Given the description of an element on the screen output the (x, y) to click on. 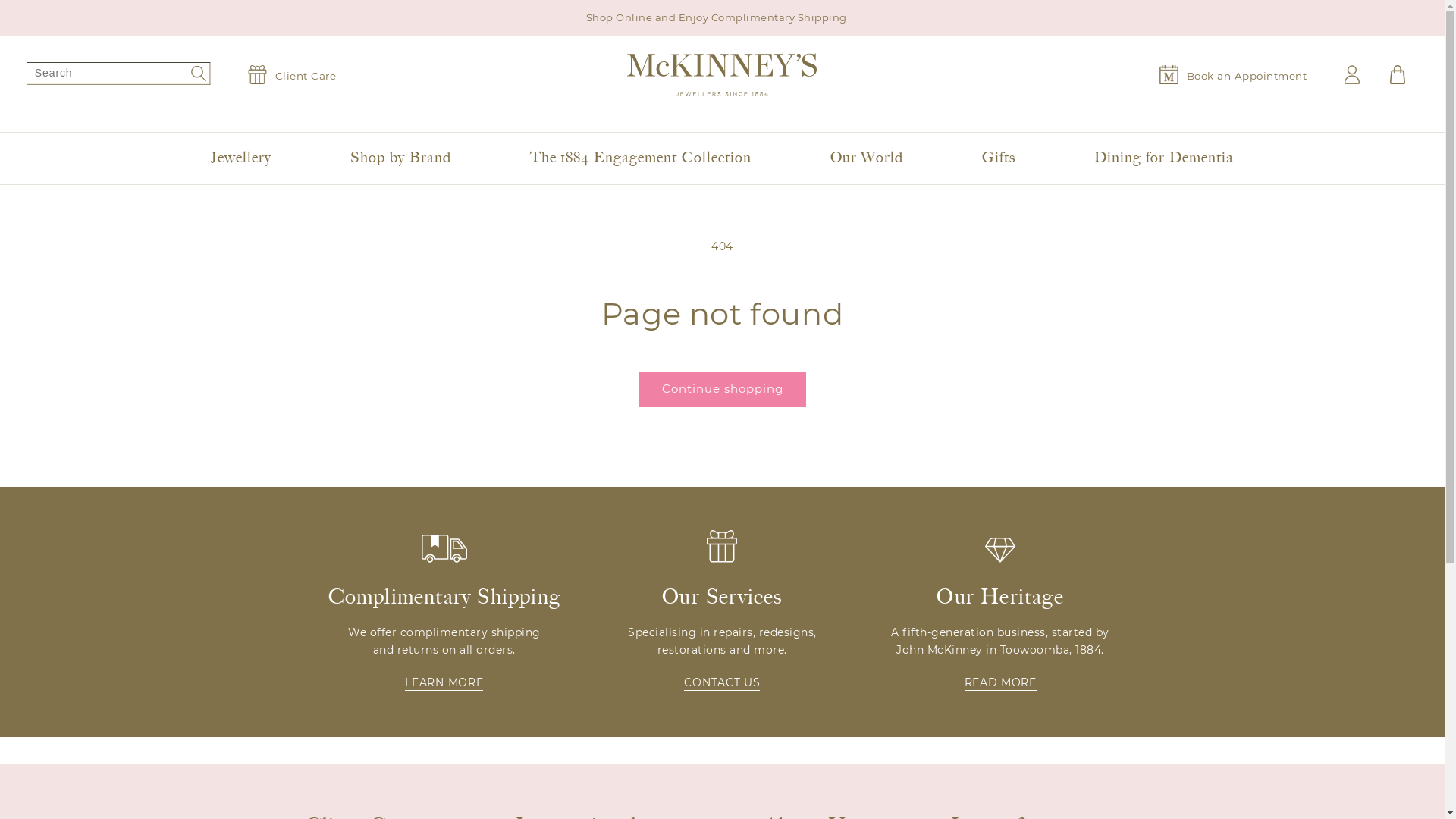
The 1884 Engagement Collection Element type: text (640, 157)
READ MORE Element type: text (1000, 682)
Gifts Element type: text (998, 157)
LEARN MORE Element type: text (443, 682)
Dining for Dementia Element type: text (1163, 157)
Shop by Brand Element type: text (400, 157)
Book an Appointment Element type: text (1232, 74)
Our World Element type: text (867, 157)
Cart Element type: text (1397, 74)
Log in Element type: text (1351, 74)
Client Care Element type: text (291, 74)
Jewellery Element type: text (240, 157)
Shop Online and Enjoy Complimentary Shipping Element type: text (722, 17)
Continue shopping Element type: text (721, 389)
CONTACT US Element type: text (721, 682)
